Given the description of an element on the screen output the (x, y) to click on. 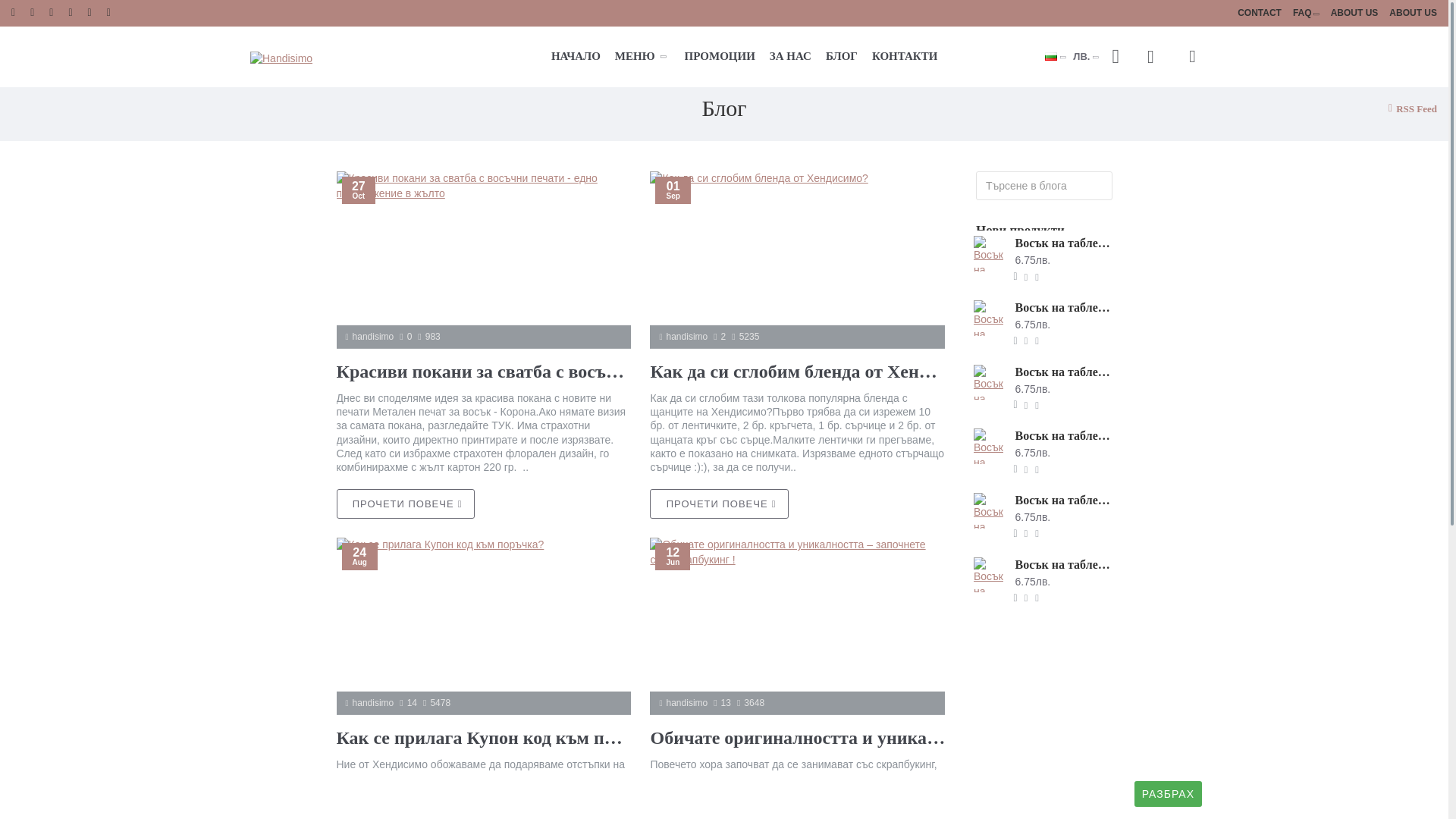
Handisimo (281, 59)
ABOUT US (1413, 13)
FAQ (1305, 13)
CONTACT (1259, 13)
ABOUT US (1353, 13)
